Given the description of an element on the screen output the (x, y) to click on. 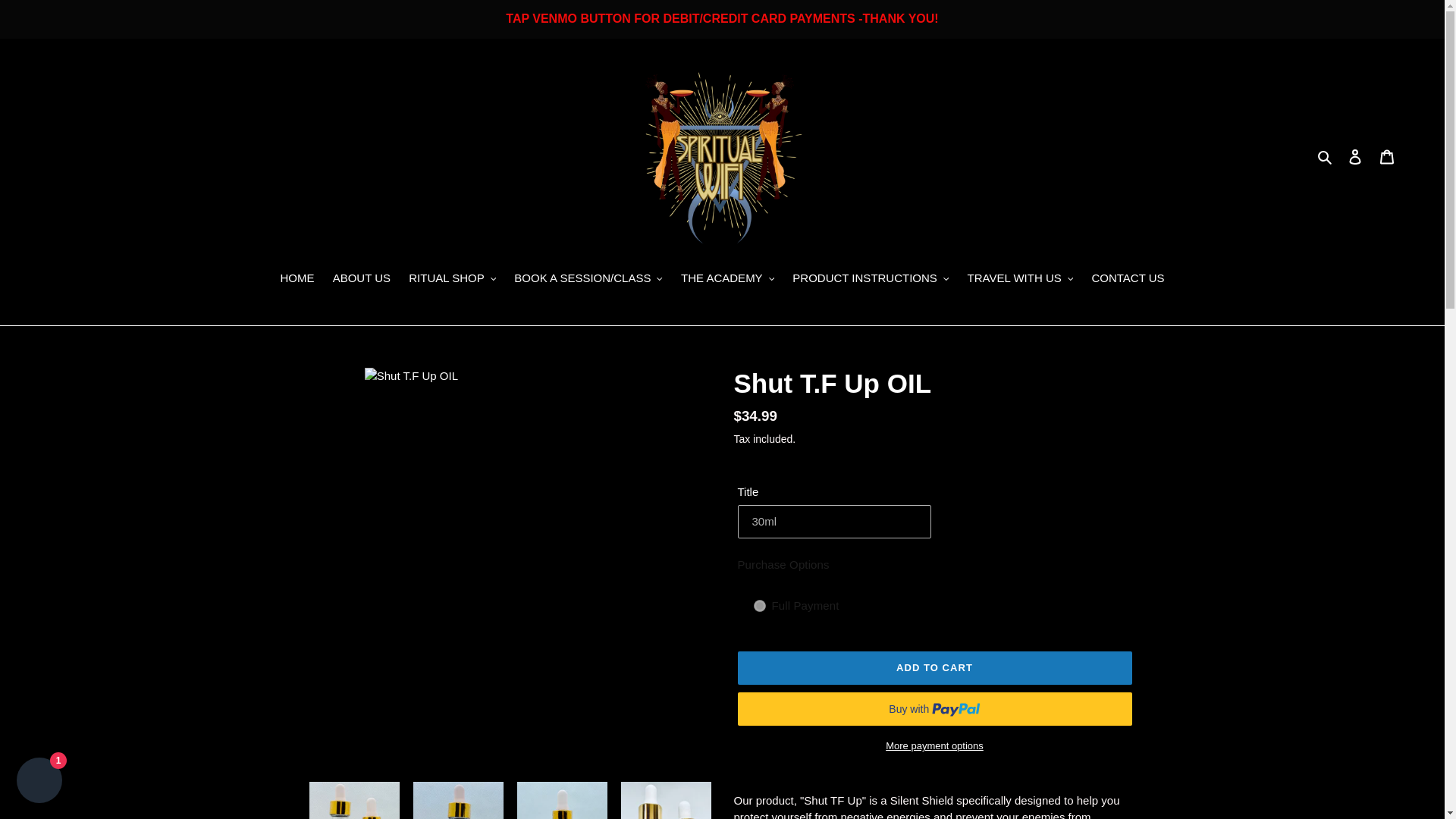
once (759, 605)
Log in (1355, 156)
Shopify online store chat (38, 781)
Cart (1387, 156)
Search (1326, 156)
